Given the description of an element on the screen output the (x, y) to click on. 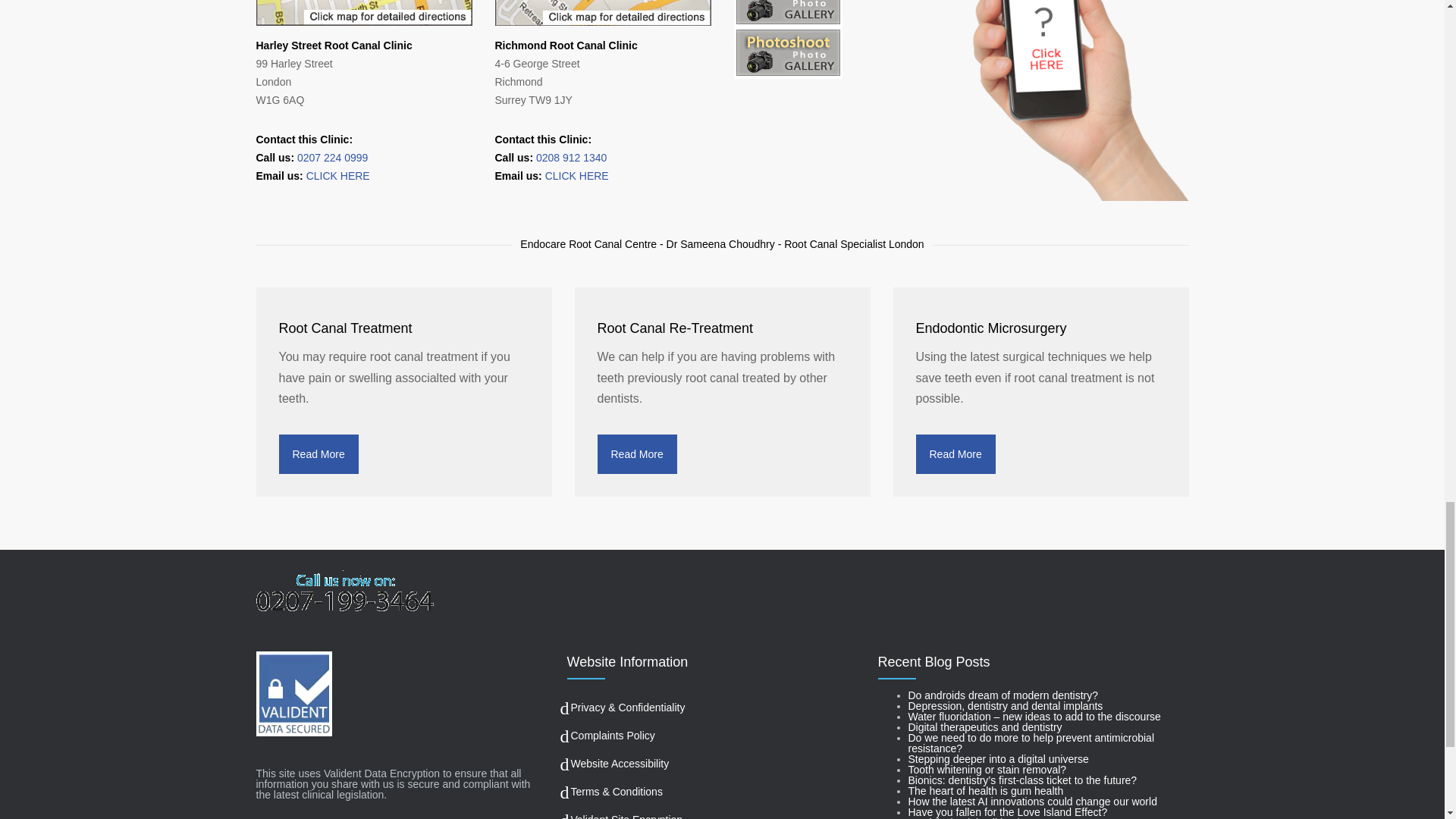
map2 (602, 12)
Read More (636, 454)
handFINAL (1080, 100)
Read More (318, 454)
map1 (363, 12)
logo-richmond-gallery-v6 (788, 13)
logo-photoshoot-gallery-v6 (788, 52)
Read More (955, 454)
